Given the description of an element on the screen output the (x, y) to click on. 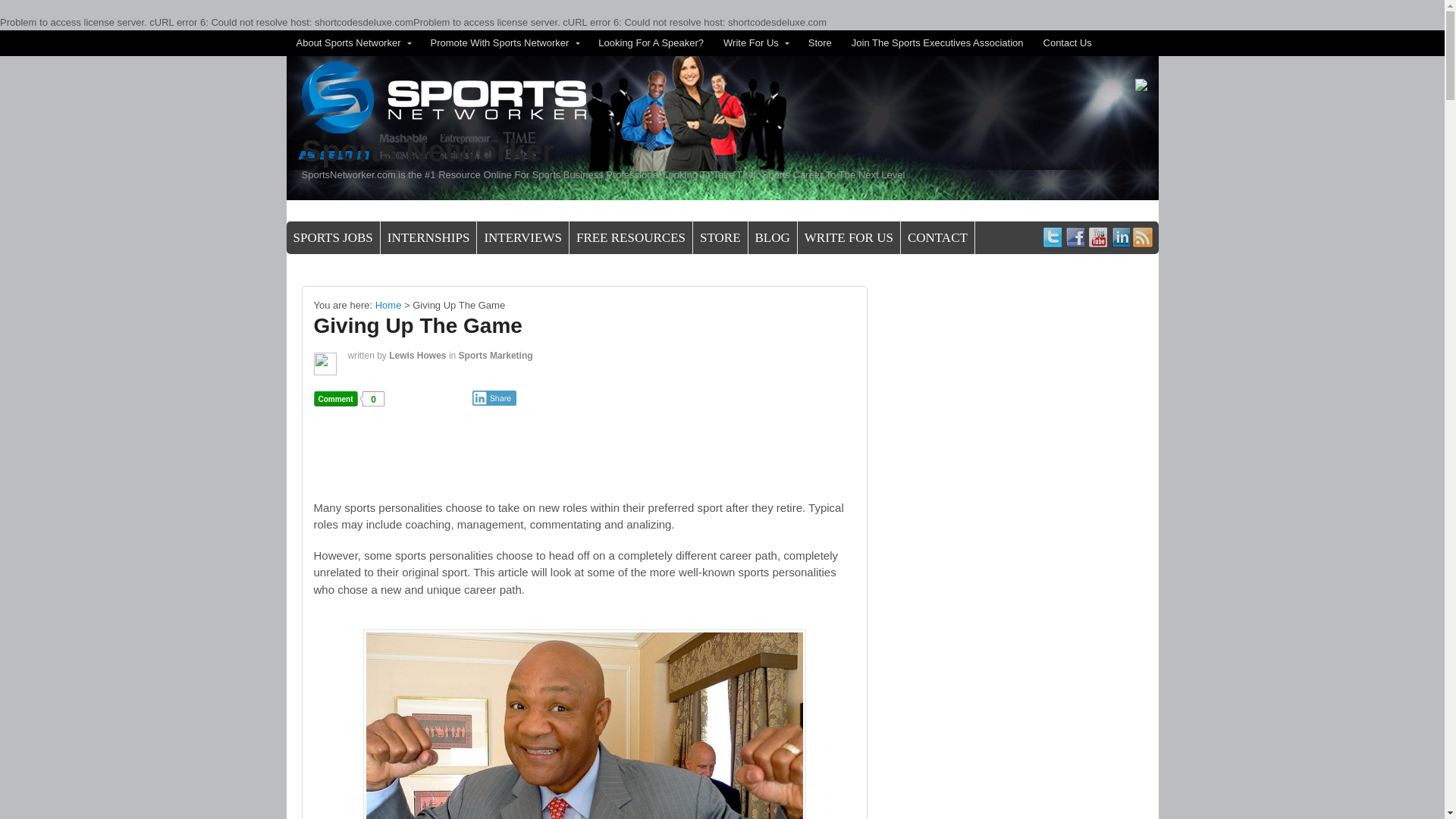
INTERNSHIPS (428, 237)
FREE RESOURCES (631, 237)
Connect on LinkedIn (1119, 237)
SPORTS JOBS (333, 237)
Advertisement (590, 465)
Write For Us (755, 43)
Connect on Facebook (1074, 237)
View all posts in Sports Marketing (495, 355)
About Sports Networker (353, 43)
Join The Sports Executives Association (937, 43)
Posts by Lewis Howes (416, 355)
foreman (584, 724)
Sports Networker (388, 305)
Looking For A Speaker? (650, 43)
INTERVIEWS (523, 237)
